Given the description of an element on the screen output the (x, y) to click on. 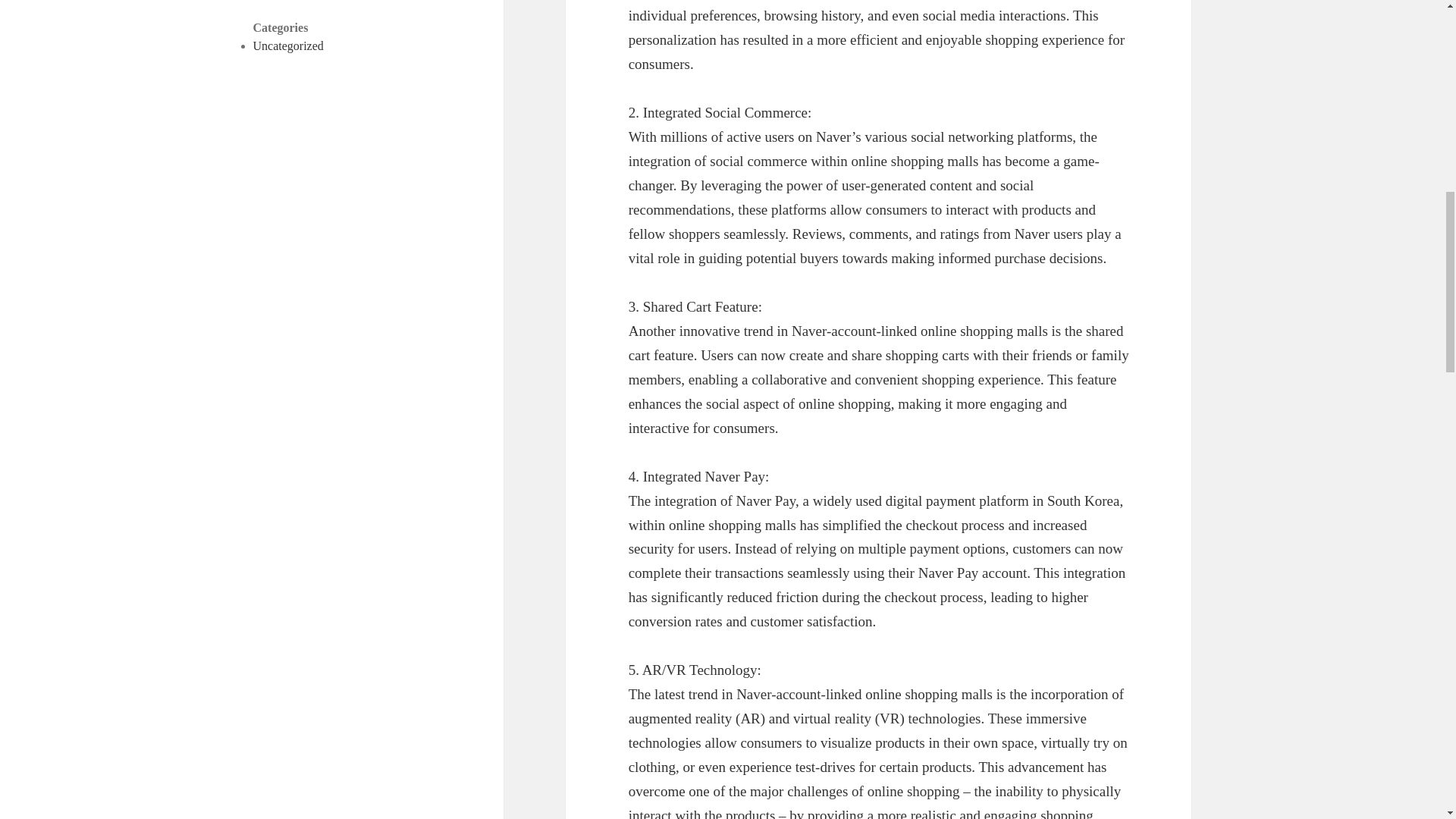
Uncategorized (288, 45)
